Given the description of an element on the screen output the (x, y) to click on. 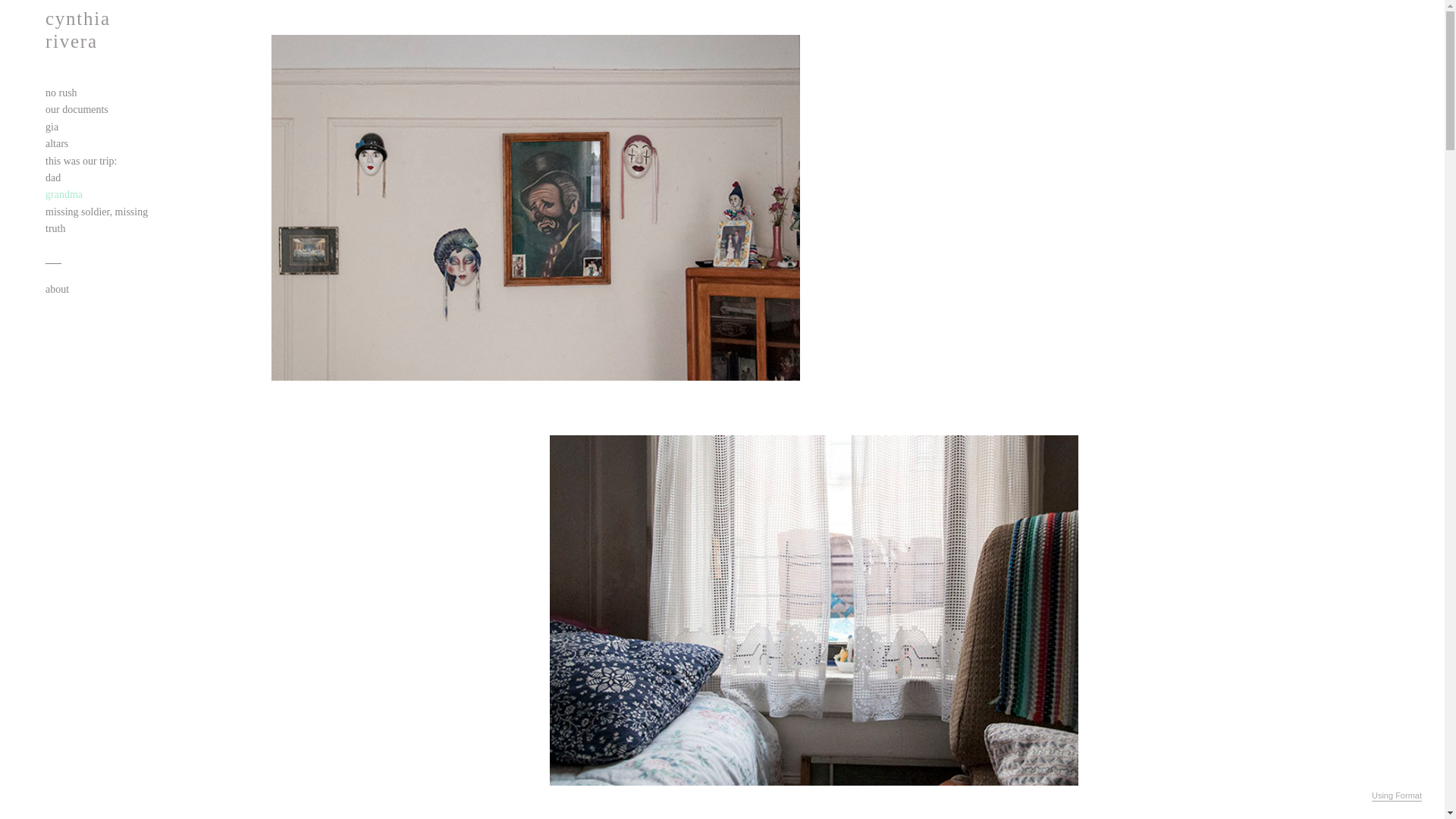
grandma (63, 194)
no rush (61, 92)
our documents (76, 109)
about (56, 288)
altars (56, 143)
Using Format (1396, 796)
this was our trip: (81, 161)
missing soldier, missing truth (96, 220)
dad (53, 177)
gia (51, 126)
